Given the description of an element on the screen output the (x, y) to click on. 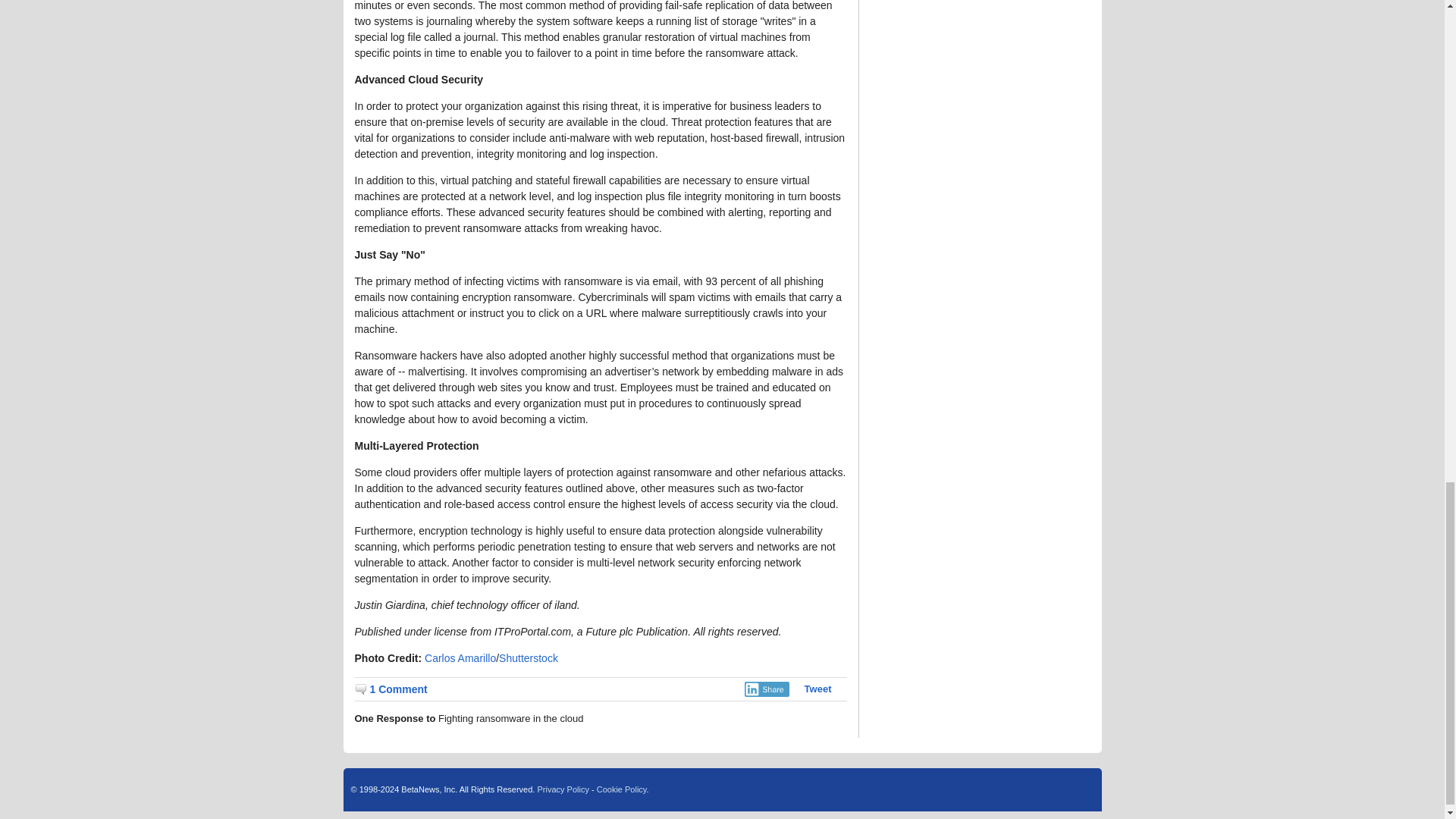
Shutterstock (528, 657)
Share (766, 688)
Tweet (818, 688)
Carlos Amarillo (460, 657)
1 Comment (391, 688)
